Given the description of an element on the screen output the (x, y) to click on. 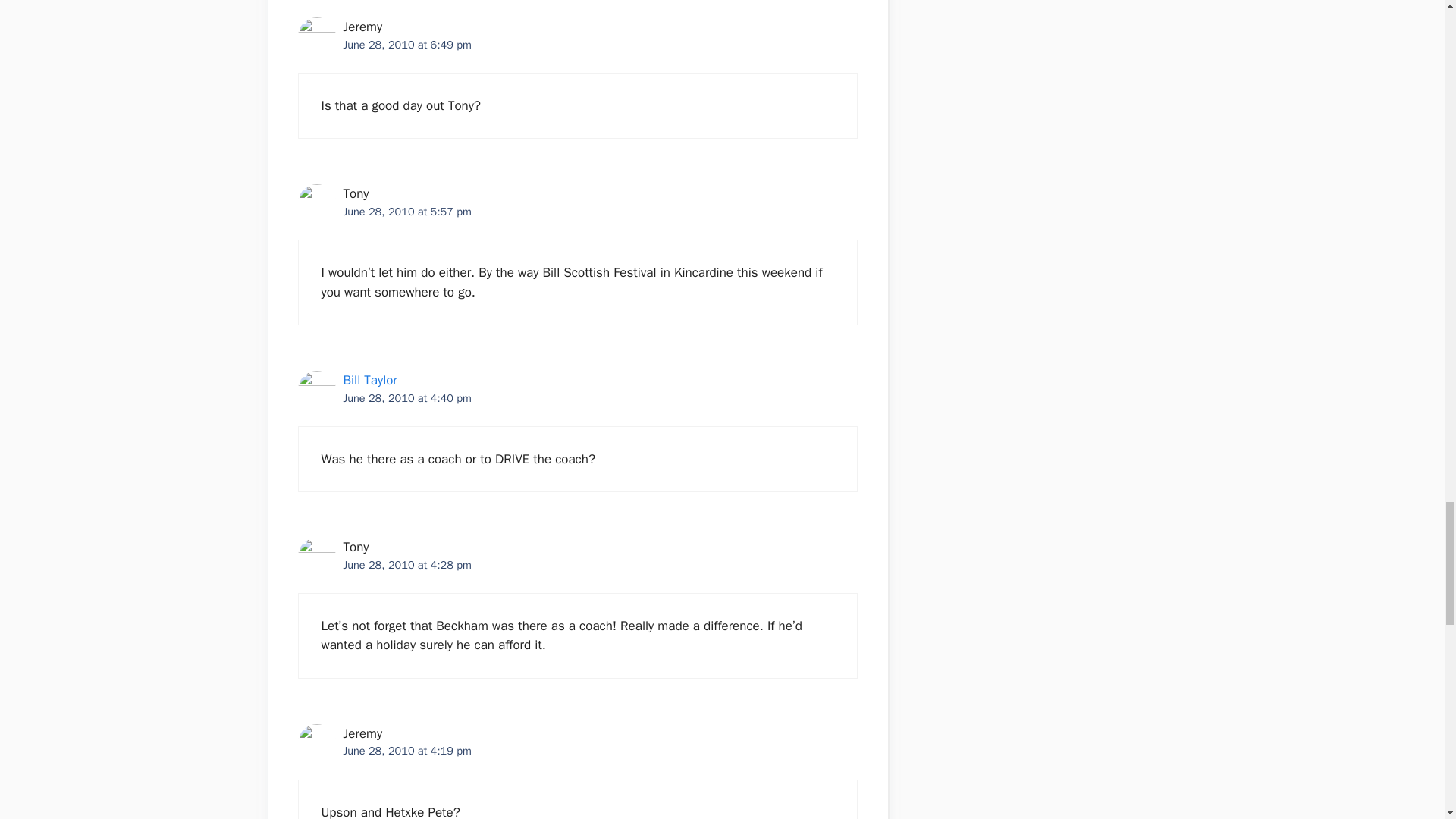
June 28, 2010 at 4:28 pm (406, 564)
Bill Taylor (369, 380)
June 28, 2010 at 4:40 pm (406, 397)
June 28, 2010 at 4:19 pm (406, 750)
June 28, 2010 at 5:57 pm (406, 211)
June 28, 2010 at 6:49 pm (406, 44)
